Given the description of an element on the screen output the (x, y) to click on. 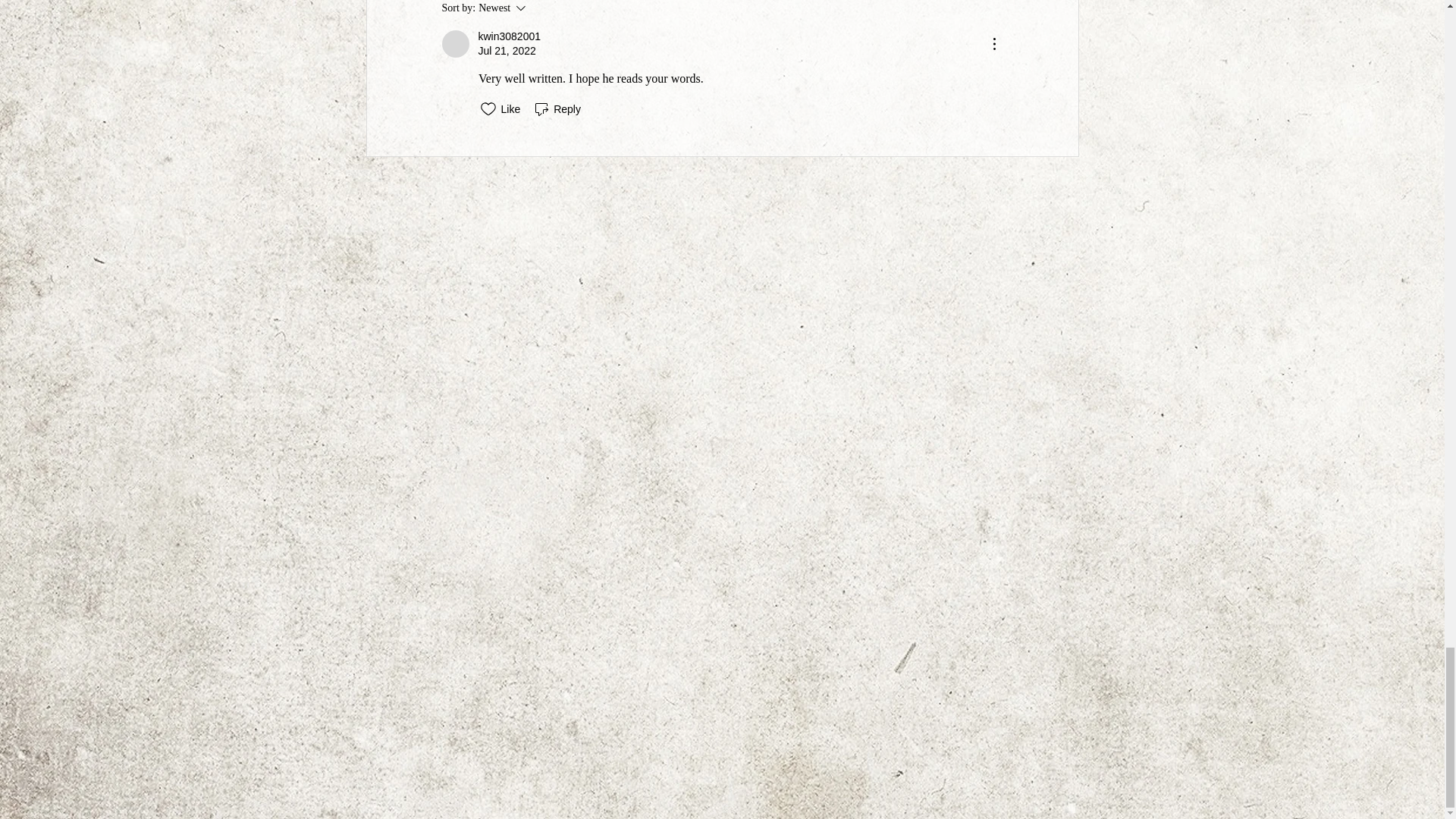
kwin3082001 (454, 43)
